Given the description of an element on the screen output the (x, y) to click on. 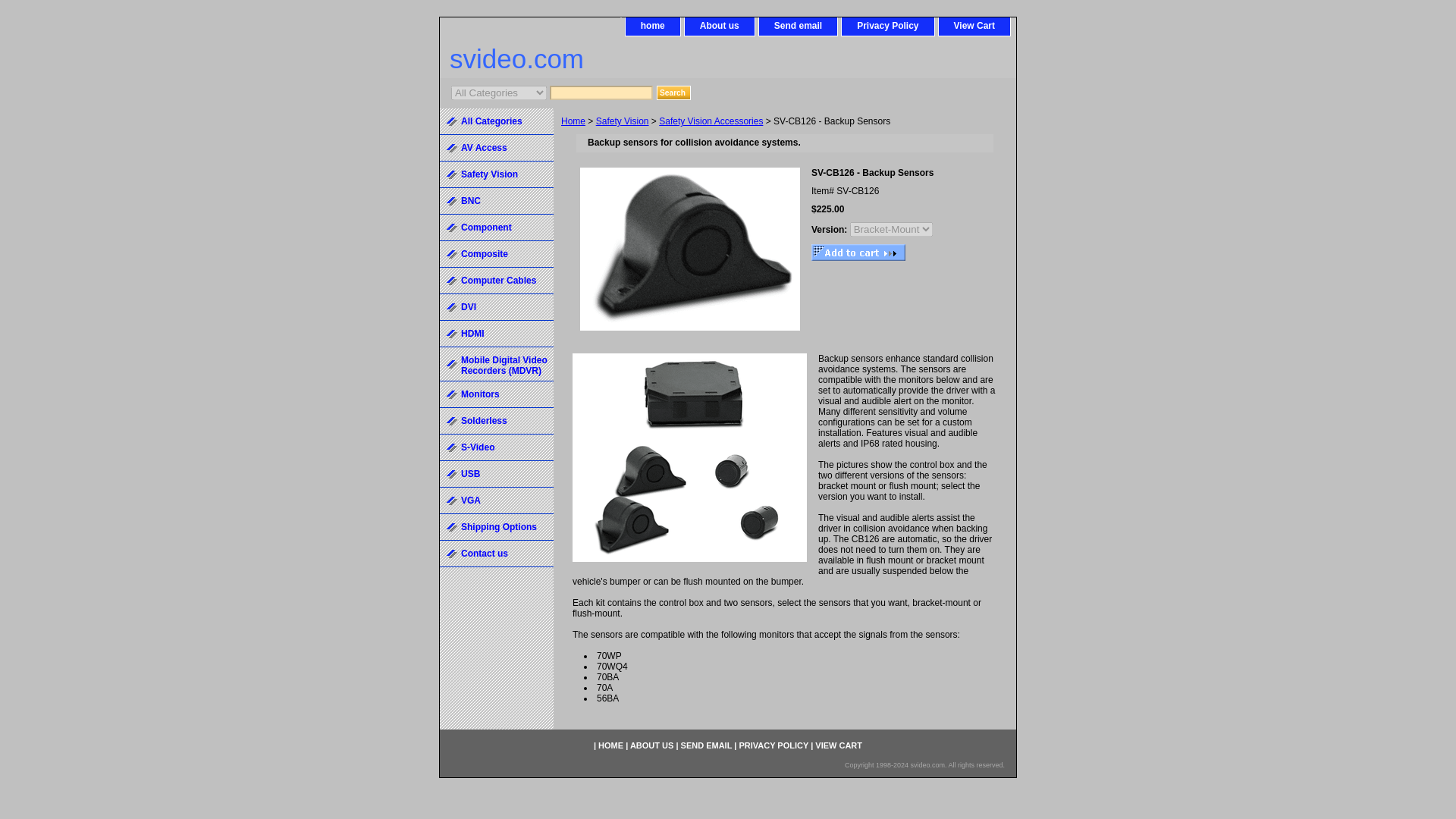
svideo.com (628, 60)
BNC (496, 201)
Monitors (496, 394)
HDMI (496, 334)
SV-CB126 - Backup Sensors (689, 456)
home (652, 26)
BNC (496, 201)
VGA (496, 500)
Shipping Options (496, 527)
Computer Cables (496, 280)
SEND EMAIL (706, 745)
Safety Vision (496, 174)
S-Video (496, 447)
Send email (797, 26)
S-Video (496, 447)
